Given the description of an element on the screen output the (x, y) to click on. 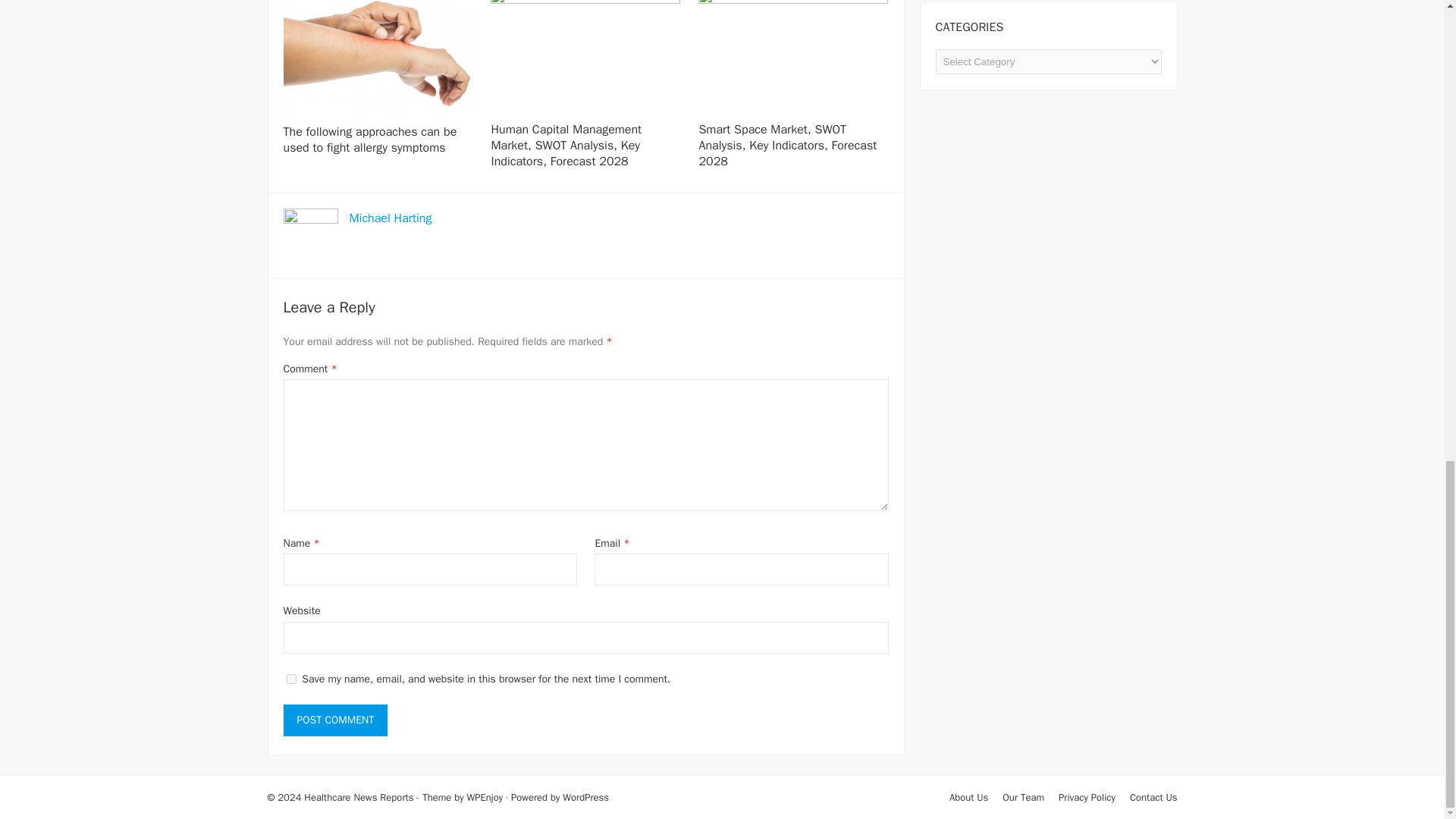
yes (291, 678)
Post Comment (335, 720)
Michael Harting (389, 218)
